Given the description of an element on the screen output the (x, y) to click on. 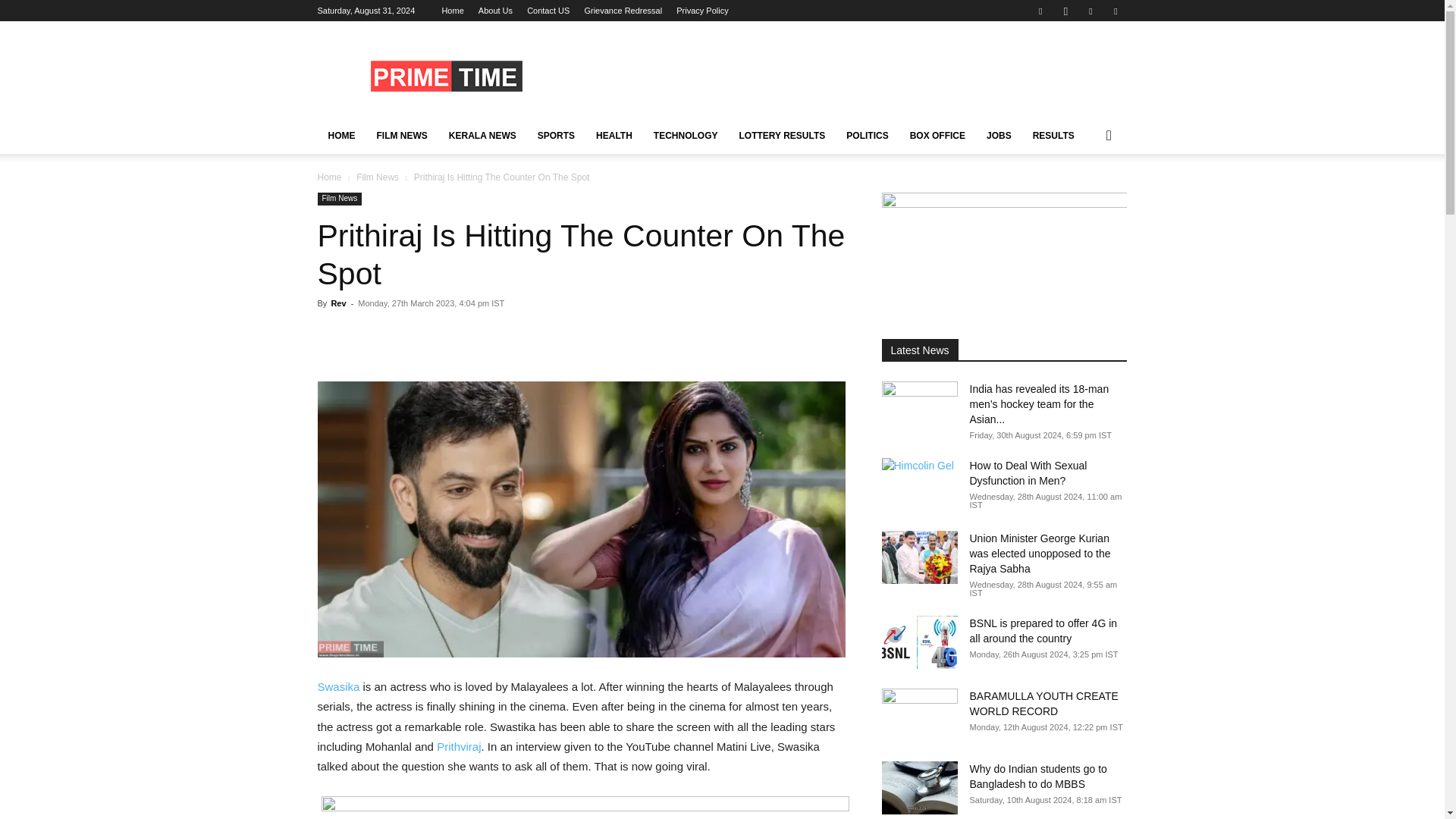
Privacy Policy (702, 10)
Twitter (1090, 10)
Grievance Redressal (622, 10)
Instagram (1065, 10)
Youtube (1114, 10)
Contact US (548, 10)
FILM NEWS (401, 135)
LOTTERY RESULTS (782, 135)
About Us (495, 10)
JOBS (998, 135)
